Given the description of an element on the screen output the (x, y) to click on. 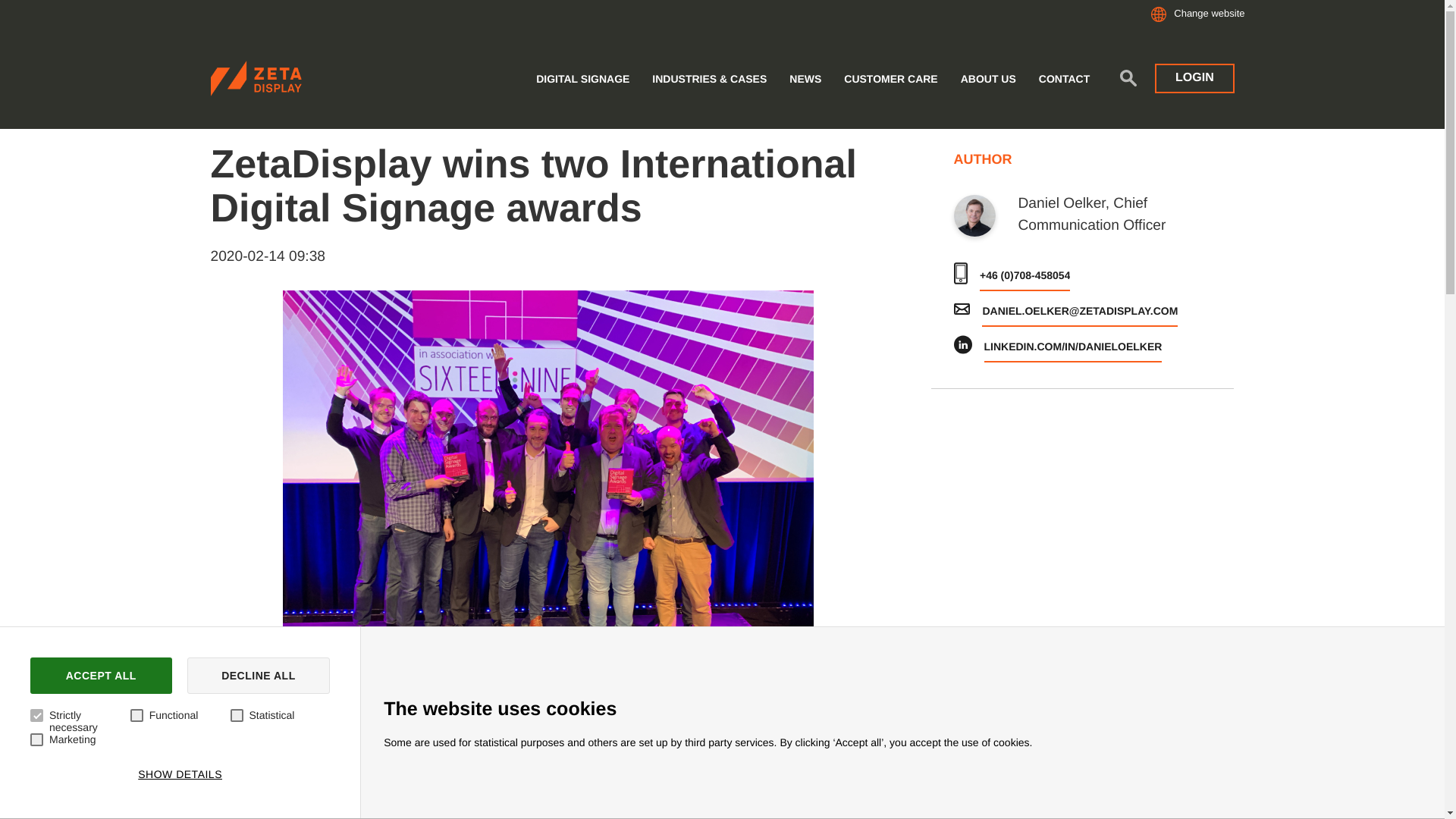
DECLINE ALL (258, 675)
SHOW DETAILS (179, 773)
ACCEPT ALL (100, 675)
